Given the description of an element on the screen output the (x, y) to click on. 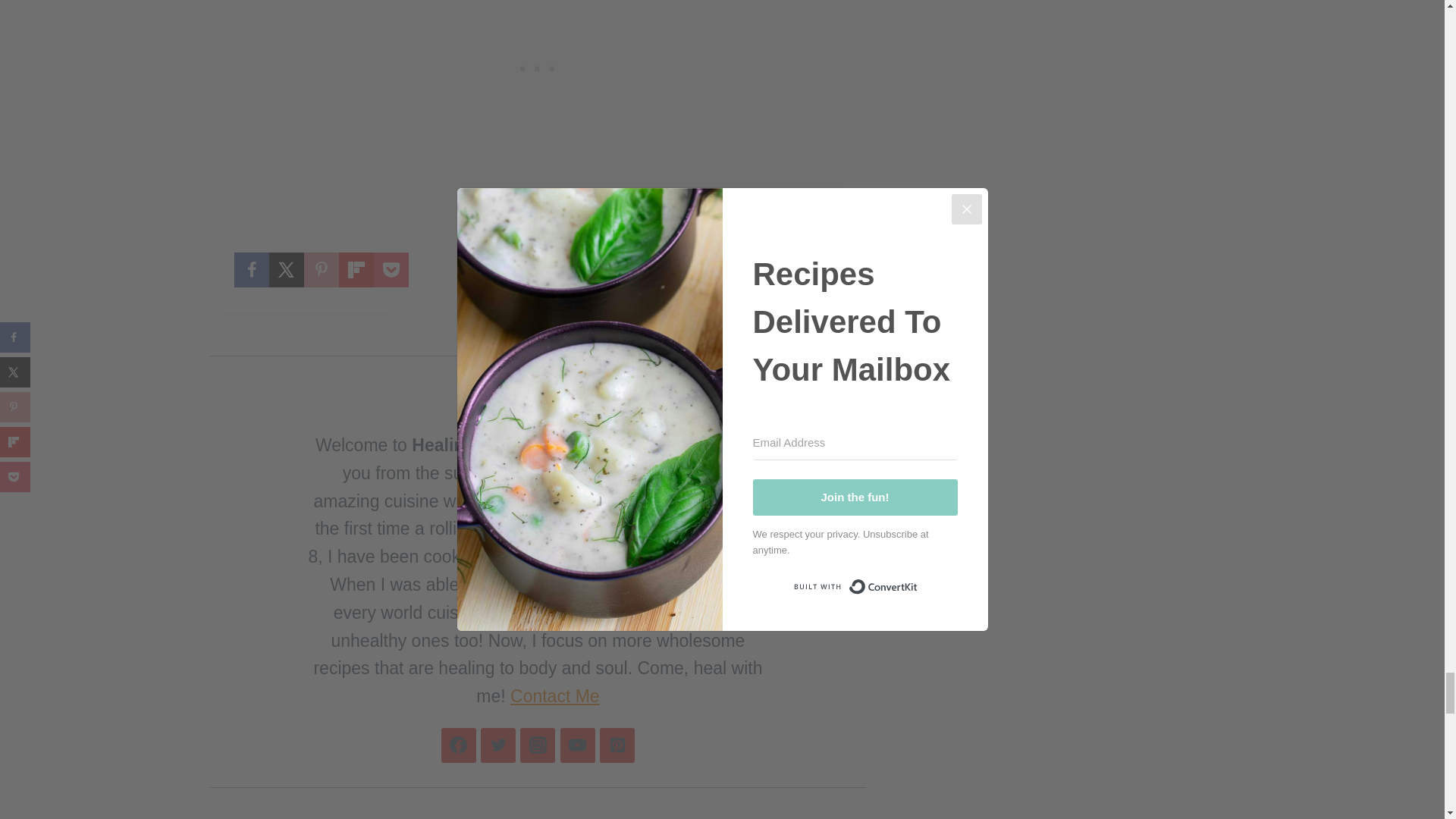
Share on Facebook (249, 269)
